Given the description of an element on the screen output the (x, y) to click on. 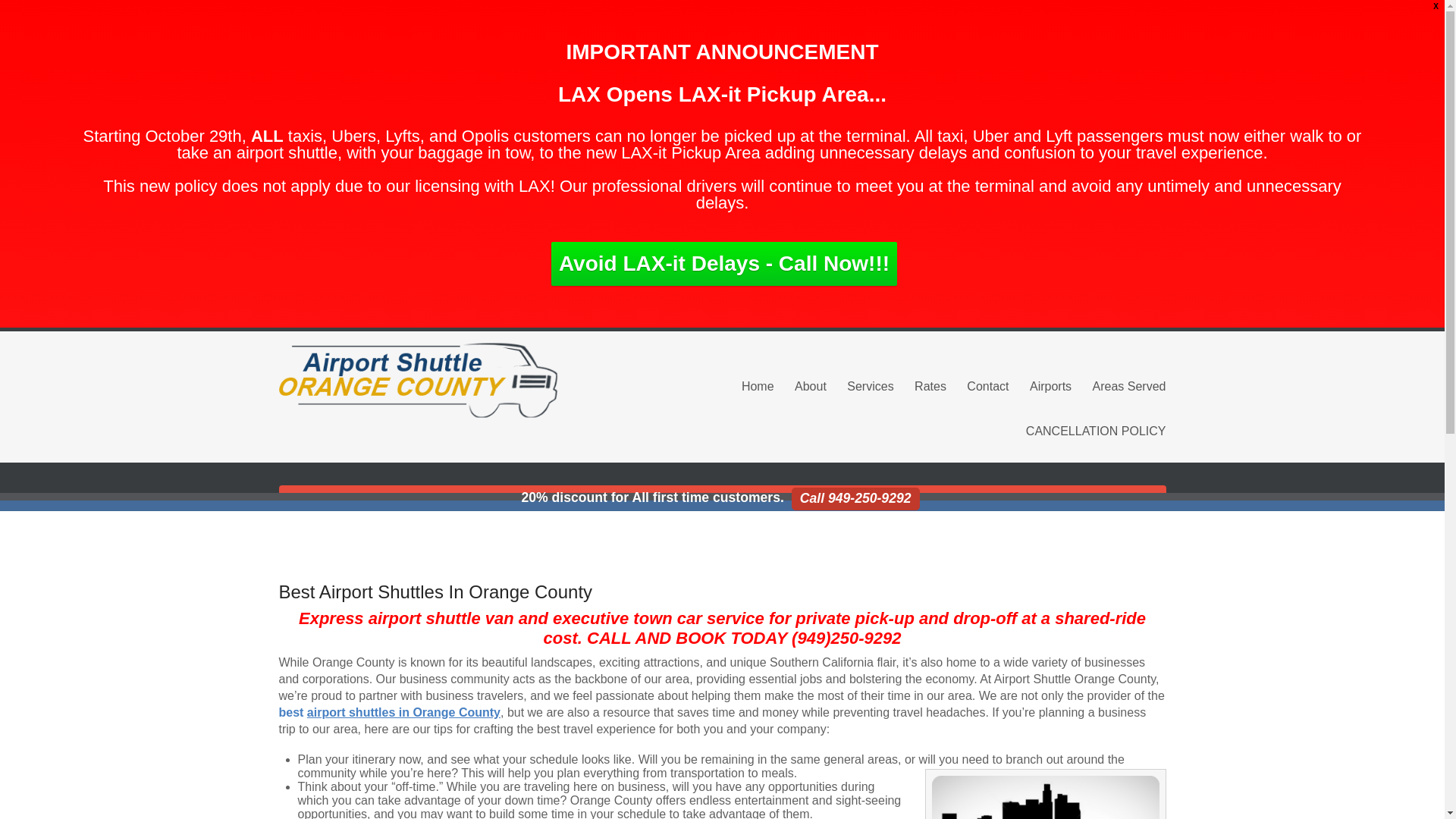
Avoid LAX-it Delays - Call Now!!! (723, 263)
AirportsMenu (1050, 385)
ServicesMenu (870, 385)
Airport Shuttle Orange County (419, 380)
Areas Served (1129, 385)
Airports (1050, 385)
ContactMenu (987, 385)
CANCELLATION POLICY (1096, 430)
AreasServedMenu (1129, 385)
Services (870, 385)
